Given the description of an element on the screen output the (x, y) to click on. 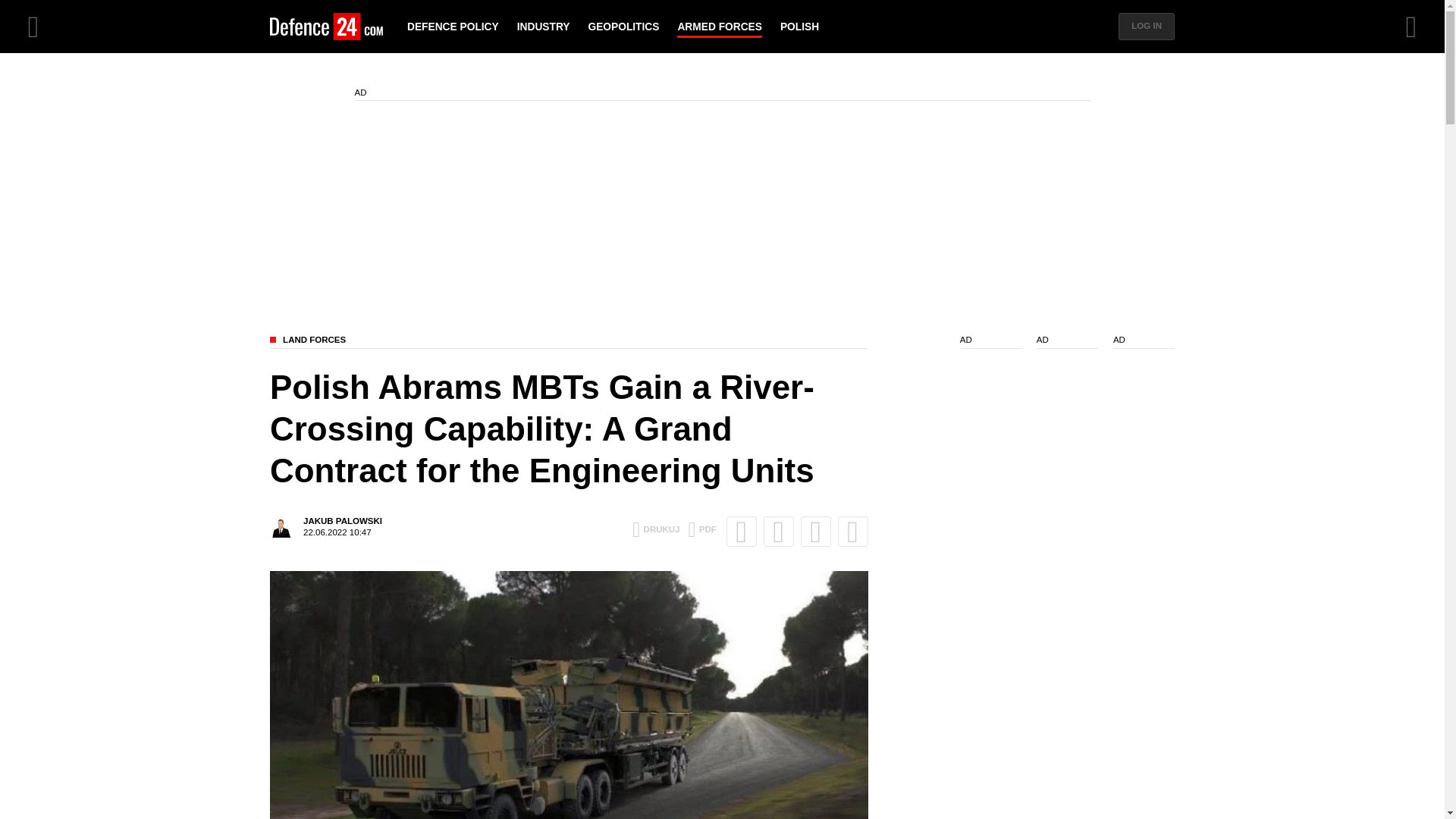
DRUKUJ (655, 529)
LinkedIn (815, 531)
Twitter (777, 531)
LOG IN (1146, 26)
PDF (701, 529)
LAND FORCES (568, 341)
GEOPOLITICS (623, 27)
Facebook (325, 526)
Instagram (741, 531)
ARMED FORCES (852, 531)
INDUSTRY (719, 27)
POLISH (543, 27)
DEFENCE POLICY (799, 27)
